Given the description of an element on the screen output the (x, y) to click on. 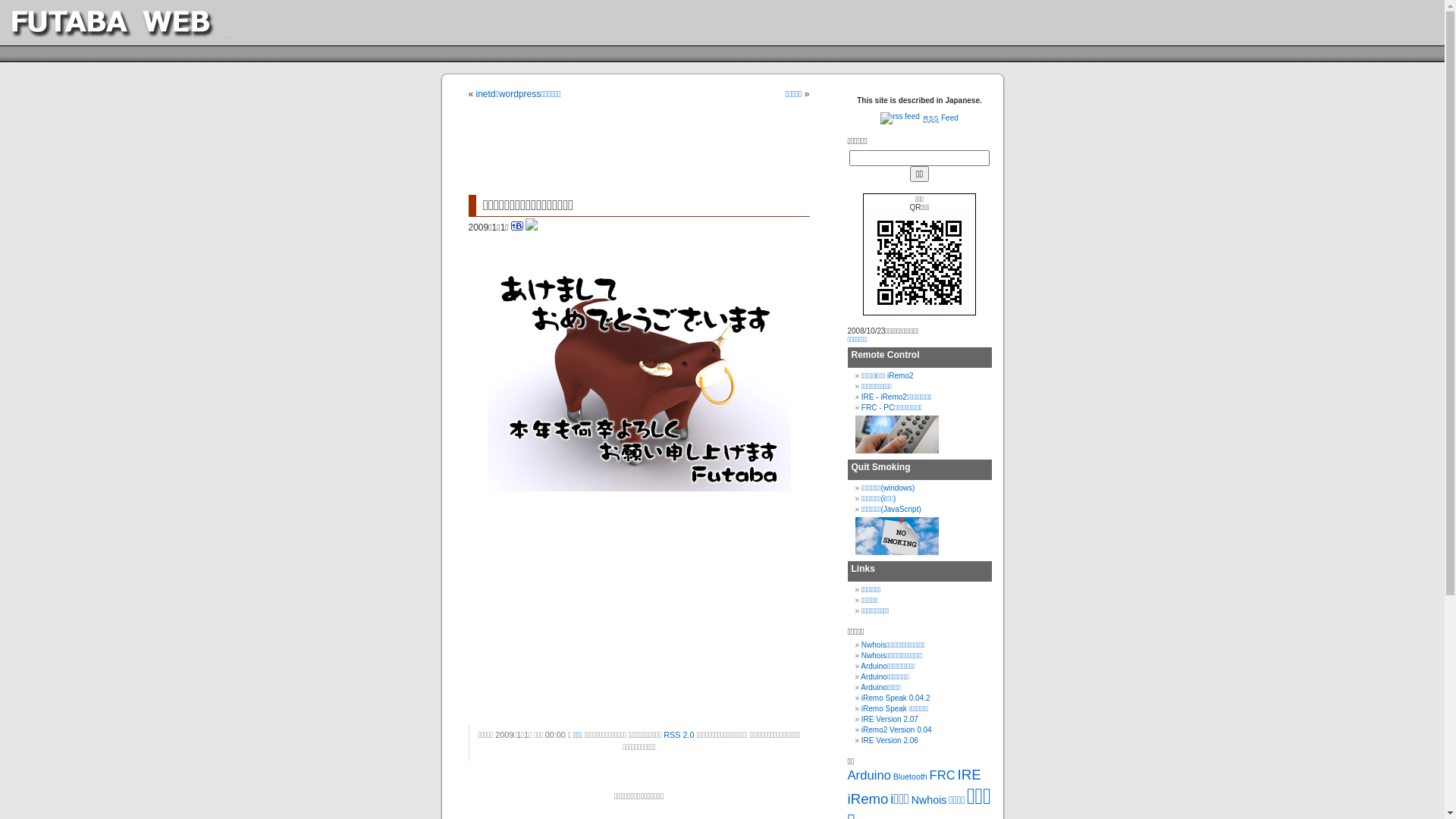
IRE Element type: text (969, 774)
RSS 2.0 Element type: text (678, 734)
iRemo2 Version 0.04 Element type: text (896, 729)
FUTABA WEB Element type: hover (137, 22)
Bluetooth Element type: text (910, 776)
FRC Element type: text (942, 775)
RSS Feed Element type: text (919, 117)
Advertisement Element type: hover (582, 617)
Arduino Element type: text (869, 775)
Advertisement Element type: hover (645, 149)
Nwhois Element type: text (929, 799)
IRE Version 2.07 Element type: text (889, 719)
iRemo Speak 0.04.2 Element type: text (895, 697)
IRE Version 2.06 Element type: text (889, 740)
iRemo Element type: text (867, 798)
